Given the description of an element on the screen output the (x, y) to click on. 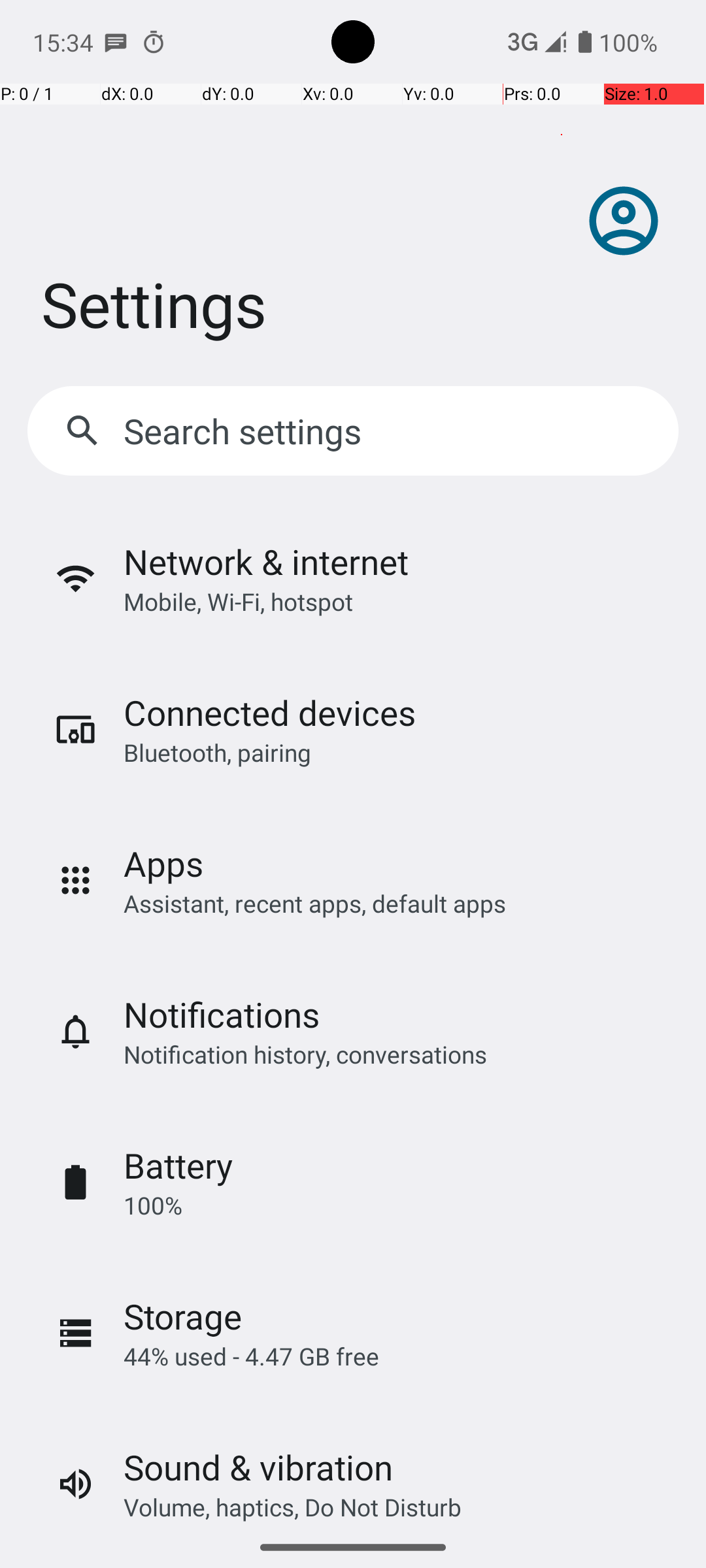
Profile picture, double tap to open Google Account Element type: android.widget.ImageView (623, 220)
Search settings Element type: android.widget.TextView (245, 430)
Mobile, Wi‑Fi, hotspot Element type: android.widget.TextView (238, 601)
Connected devices Element type: android.widget.TextView (269, 712)
Bluetooth, pairing Element type: android.widget.TextView (217, 751)
Assistant, recent apps, default apps Element type: android.widget.TextView (314, 902)
Notification history, conversations Element type: android.widget.TextView (305, 1053)
100% Element type: android.widget.TextView (152, 1204)
44% used - 4.47 GB free Element type: android.widget.TextView (251, 1355)
Volume, haptics, Do Not Disturb Element type: android.widget.TextView (292, 1506)
